Given the description of an element on the screen output the (x, y) to click on. 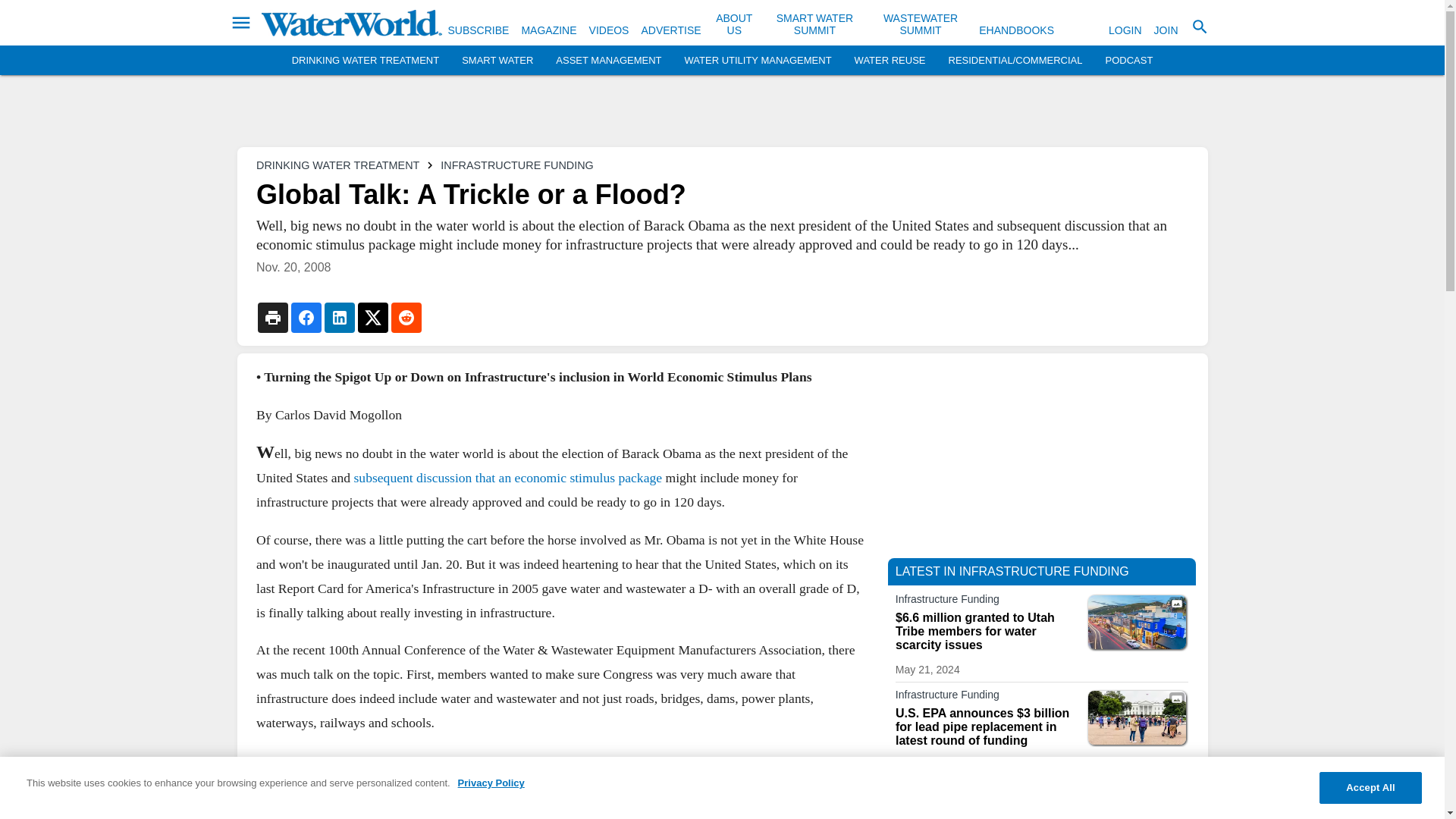
WATER REUSE (890, 60)
LOGIN (1124, 30)
SMART WATER SUMMIT (814, 24)
ASSET MANAGEMENT (608, 60)
VIDEOS (608, 30)
WASTEWATER SUMMIT (920, 24)
MAGAZINE (548, 30)
EHANDBOOKS (1016, 30)
JOIN (1165, 30)
DRINKING WATER TREATMENT (365, 60)
ABOUT US (734, 24)
SUBSCRIBE (477, 30)
ADVERTISE (670, 30)
SMART WATER (496, 60)
PODCAST (1129, 60)
